Given the description of an element on the screen output the (x, y) to click on. 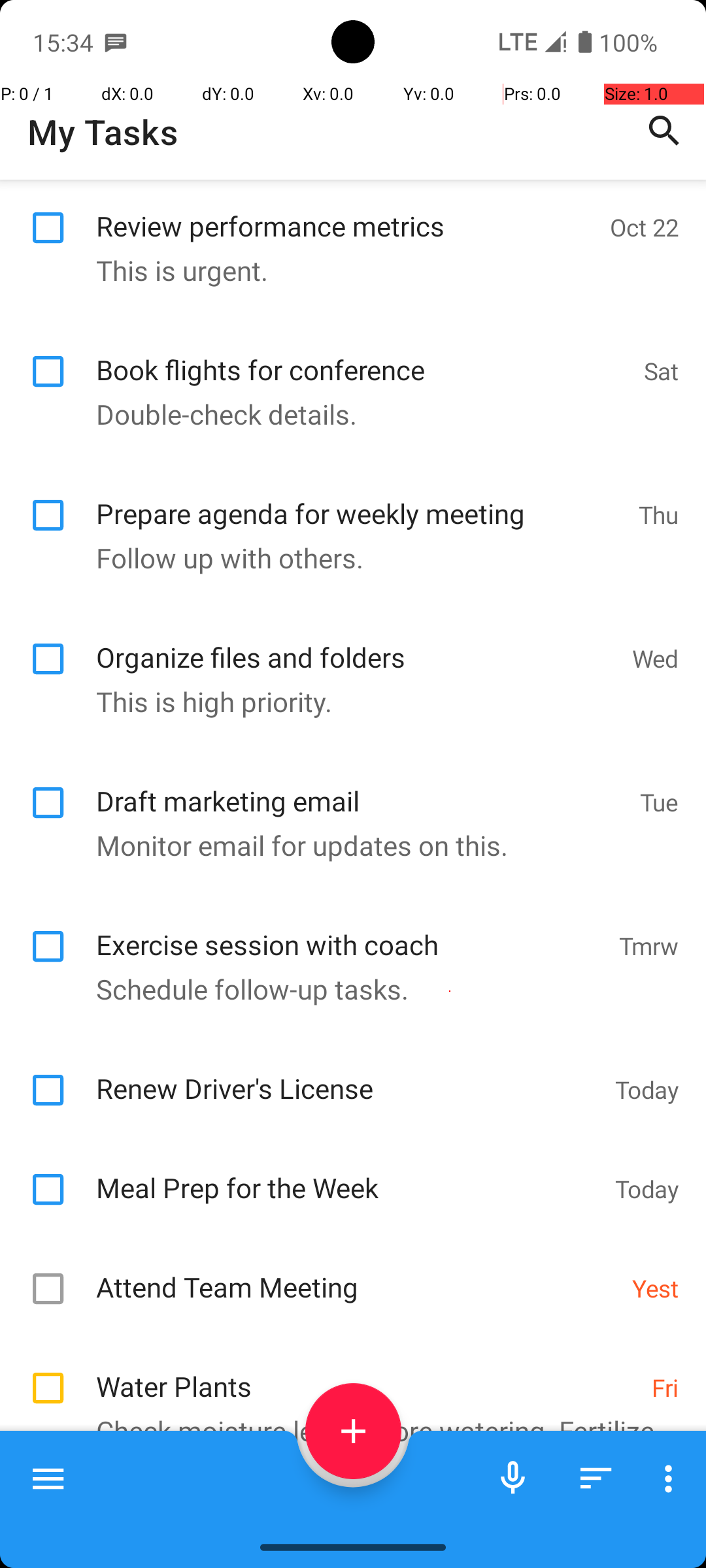
Review performance metrics Element type: android.widget.TextView (346, 211)
This is urgent. Element type: android.widget.TextView (346, 269)
Oct 22 Element type: android.widget.TextView (644, 226)
Book flights for conference Element type: android.widget.TextView (363, 355)
Double-check details. Element type: android.widget.TextView (346, 413)
Prepare agenda for weekly meeting Element type: android.widget.TextView (360, 499)
Follow up with others. Element type: android.widget.TextView (346, 557)
Organize files and folders Element type: android.widget.TextView (357, 642)
This is high priority. Element type: android.widget.TextView (346, 700)
Draft marketing email Element type: android.widget.TextView (361, 786)
Monitor email for updates on this. Element type: android.widget.TextView (346, 844)
Exercise session with coach Element type: android.widget.TextView (350, 930)
Schedule follow-up tasks. Element type: android.widget.TextView (346, 988)
Check moisture level before watering. Fertilize succulents. Element type: android.widget.TextView (346, 1446)
